Given the description of an element on the screen output the (x, y) to click on. 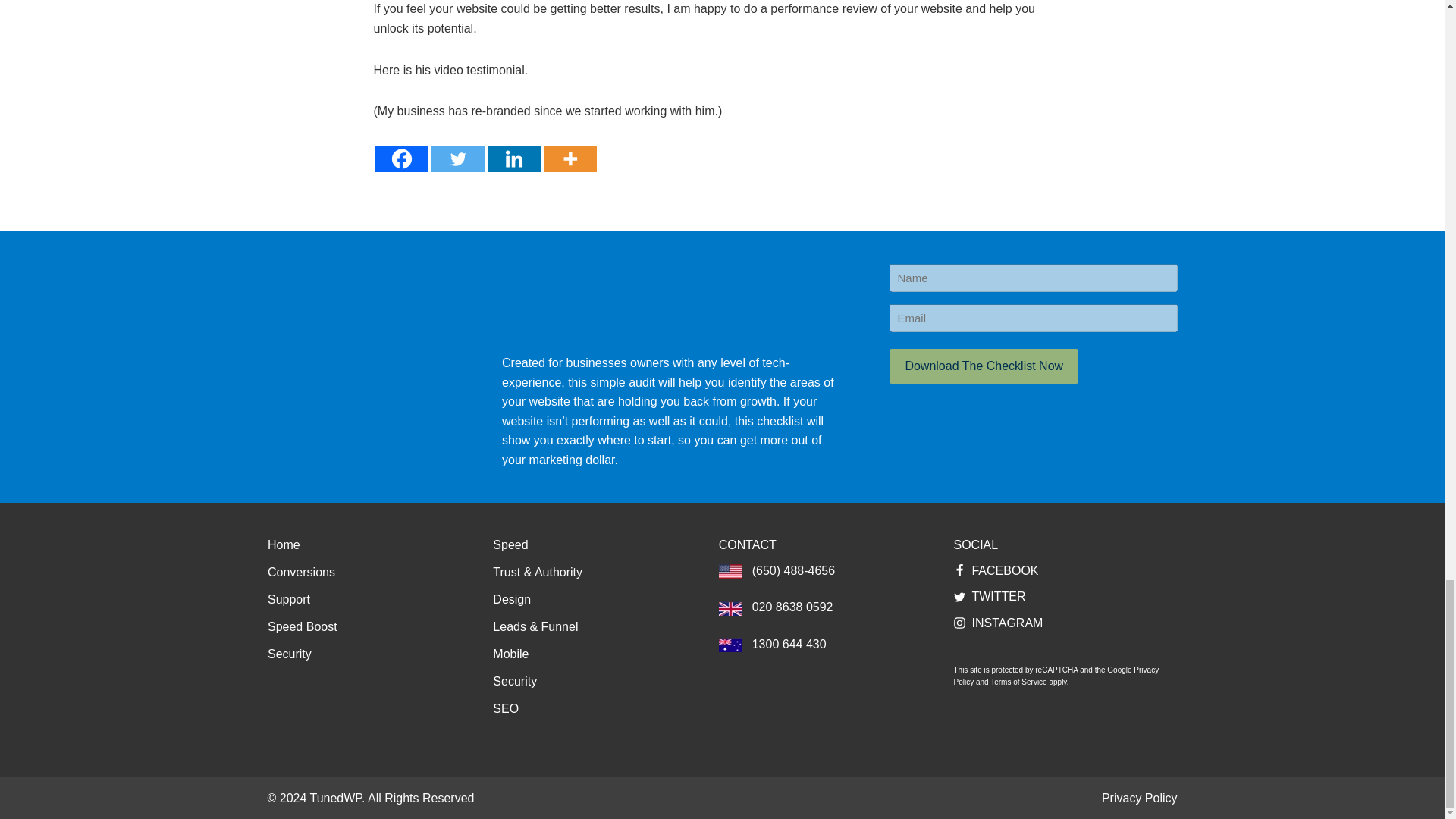
More (569, 158)
Speed Boost (302, 627)
Conversions (300, 572)
Linkedin (513, 158)
Download The Checklist Now (983, 365)
Twitter (456, 158)
Facebook (401, 158)
Security (289, 654)
Support (288, 599)
Home (283, 545)
